Given the description of an element on the screen output the (x, y) to click on. 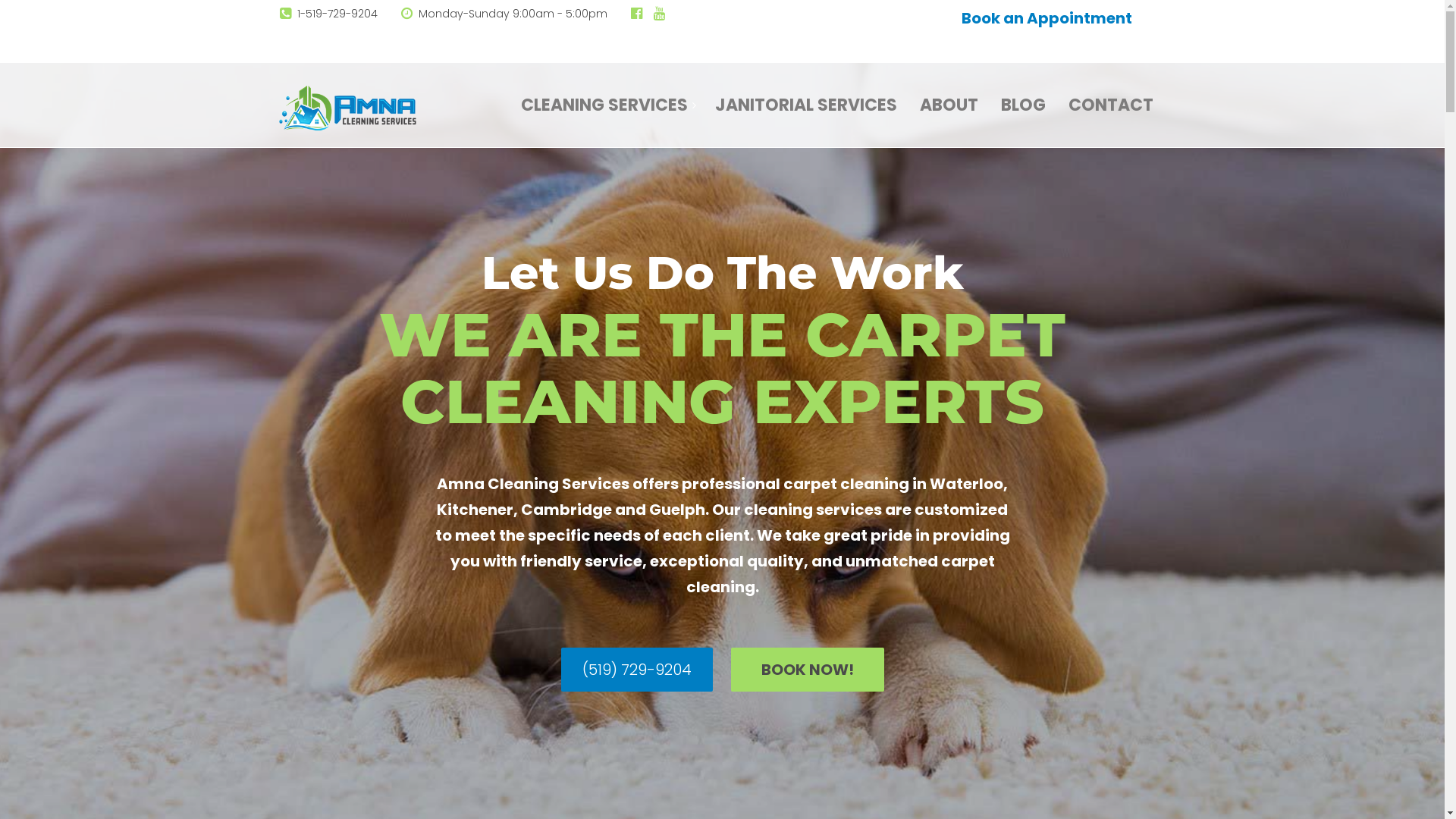
BLOG Element type: text (1022, 97)
ABOUT Element type: text (948, 97)
CLEANING SERVICES Element type: text (604, 97)
JANITORIAL SERVICES Element type: text (805, 97)
CONTACT Element type: text (1110, 97)
(519) 729-9204 Element type: text (636, 669)
BOOK NOW! Element type: text (807, 669)
Book an Appointment Element type: text (1046, 17)
